Given the description of an element on the screen output the (x, y) to click on. 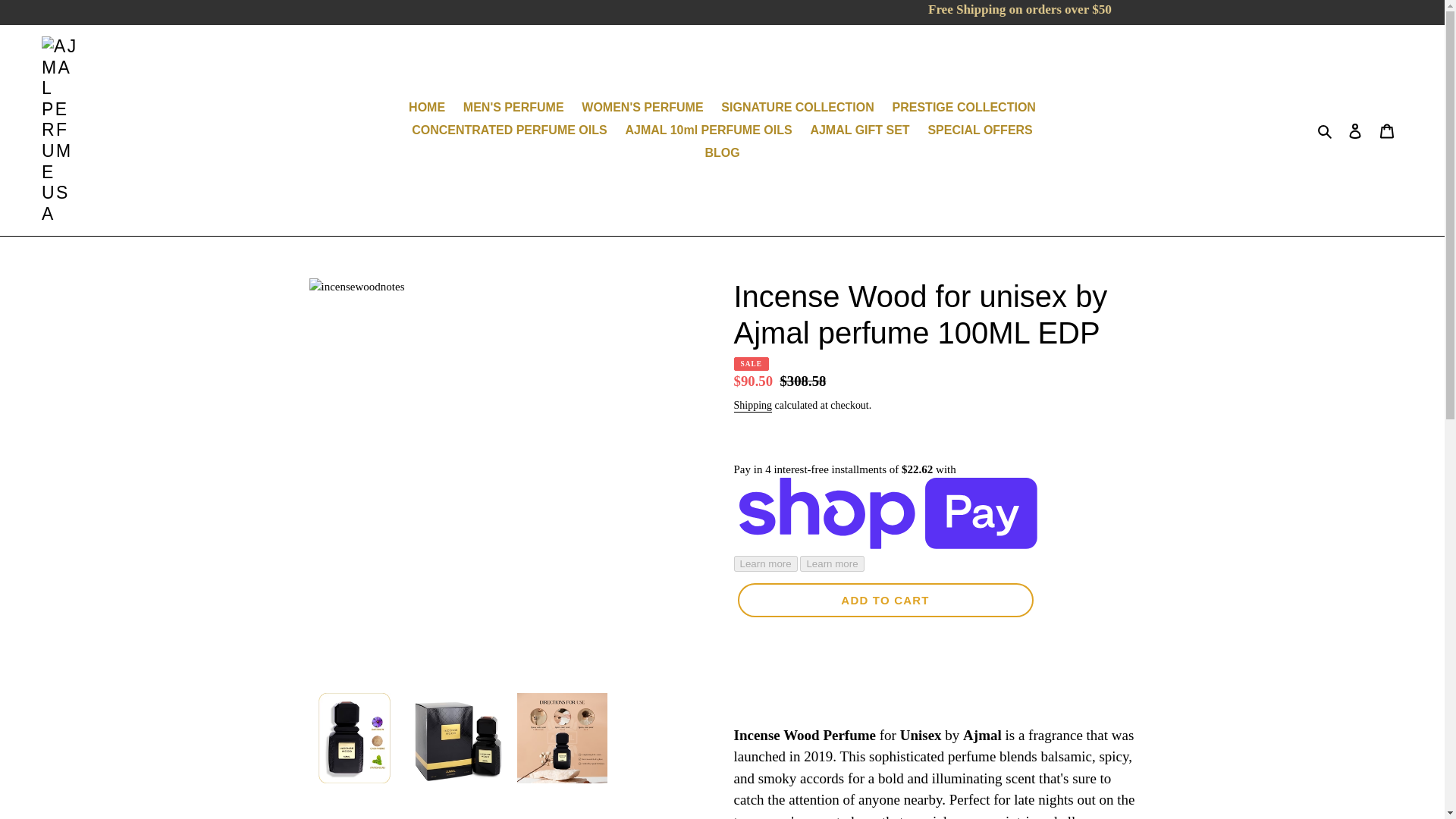
MEN'S PERFUME (513, 107)
AJMAL GIFT SET (859, 129)
CONCENTRATED PERFUME OILS (509, 129)
HOME (426, 107)
SIGNATURE COLLECTION (796, 107)
AJMAL 10ml PERFUME OILS (708, 129)
Search (1326, 130)
Cart (1387, 130)
ADD TO CART (884, 600)
Shipping (753, 405)
